Given the description of an element on the screen output the (x, y) to click on. 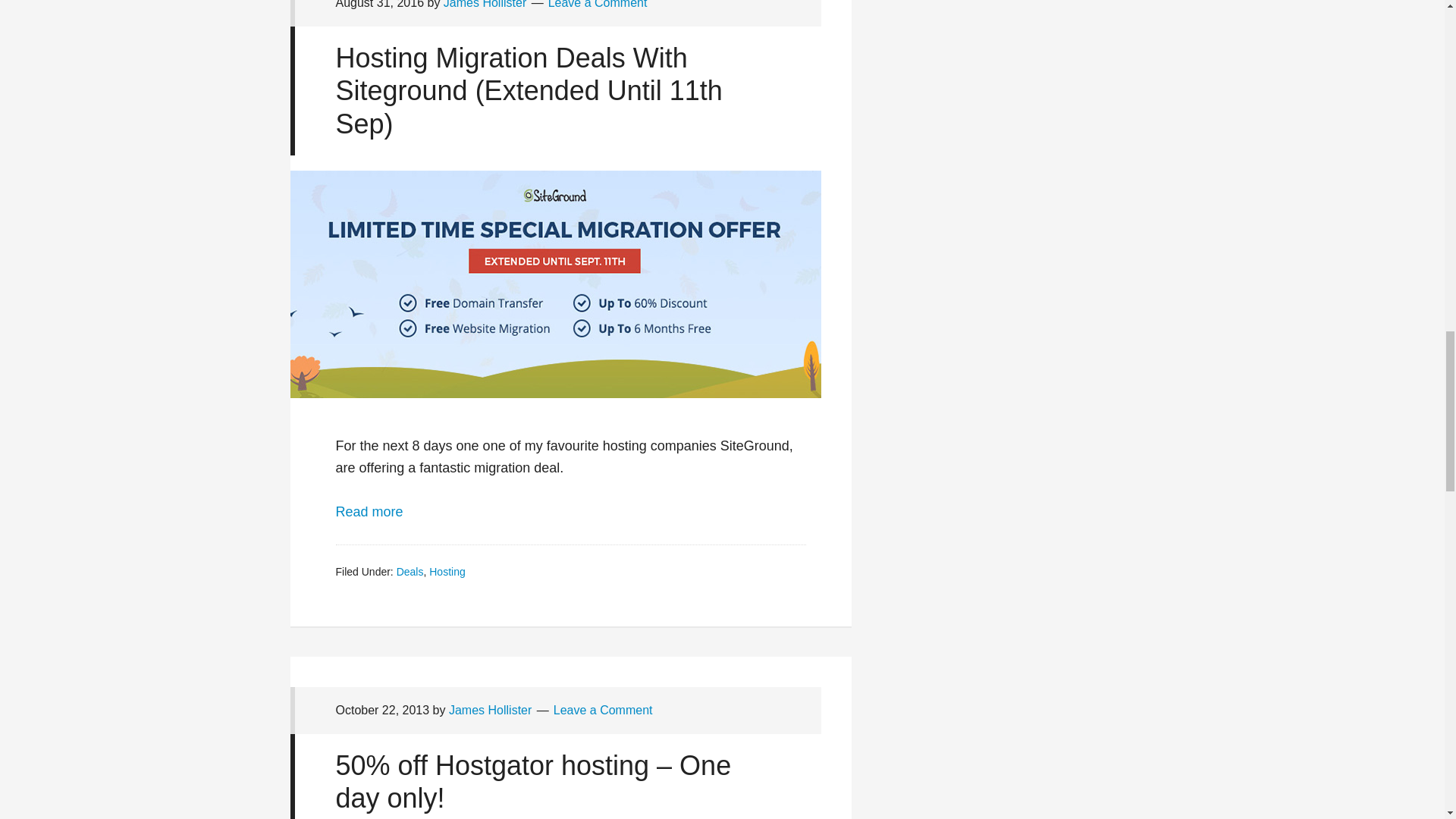
Leave a Comment (597, 4)
Hosting (446, 571)
Read more (368, 511)
James Hollister (484, 4)
James Hollister (489, 709)
Deals (409, 571)
Leave a Comment (602, 709)
